Given the description of an element on the screen output the (x, y) to click on. 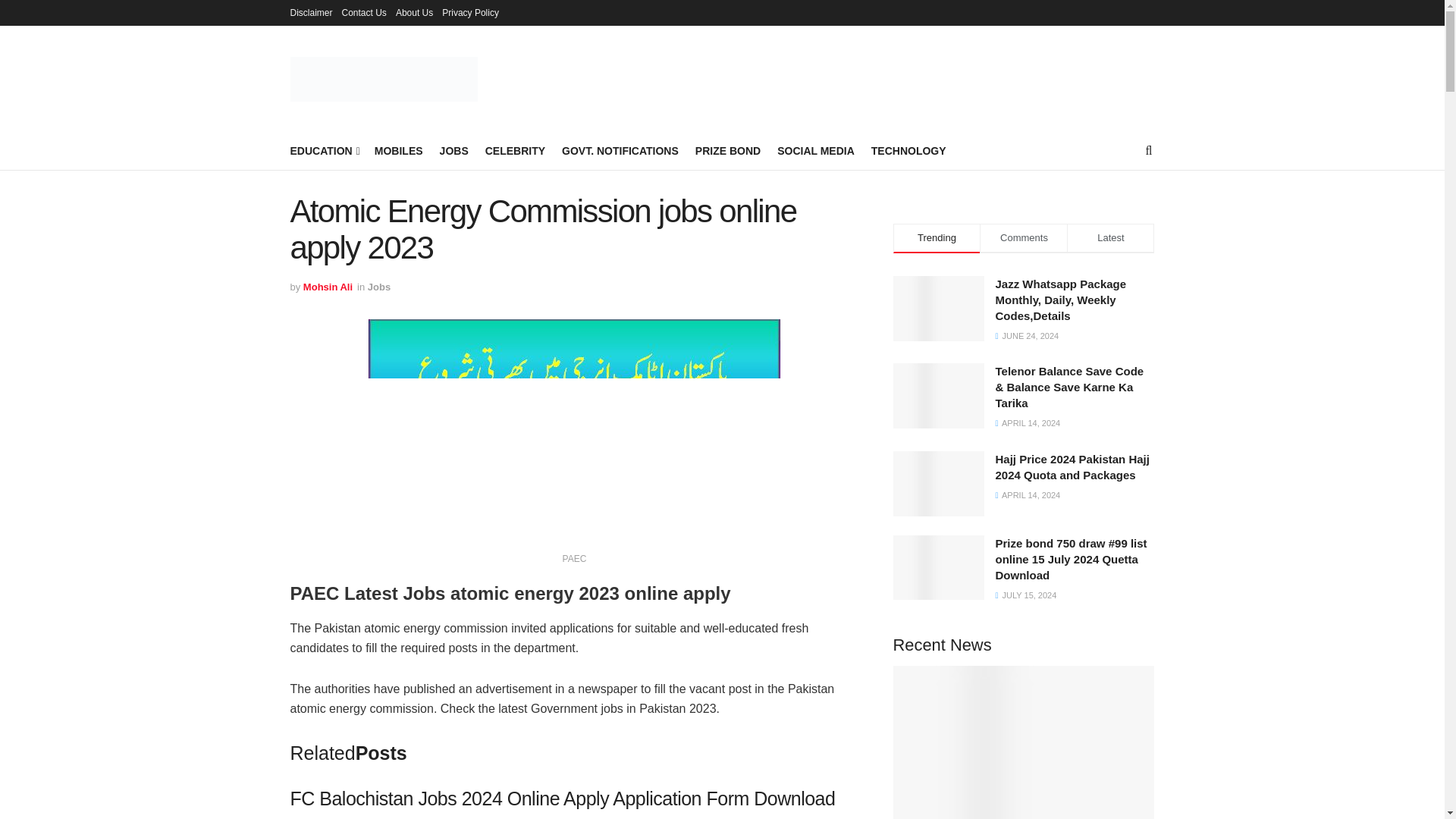
Atomic Energy Commission jobs online apply 2023 1 (574, 433)
PRIZE BOND (727, 150)
EDUCATION (322, 150)
TECHNOLOGY (908, 150)
MOBILES (398, 150)
SOCIAL MEDIA (815, 150)
Contact Us (364, 12)
GOVT. NOTIFICATIONS (620, 150)
Privacy Policy (470, 12)
JOBS (453, 150)
